Given the description of an element on the screen output the (x, y) to click on. 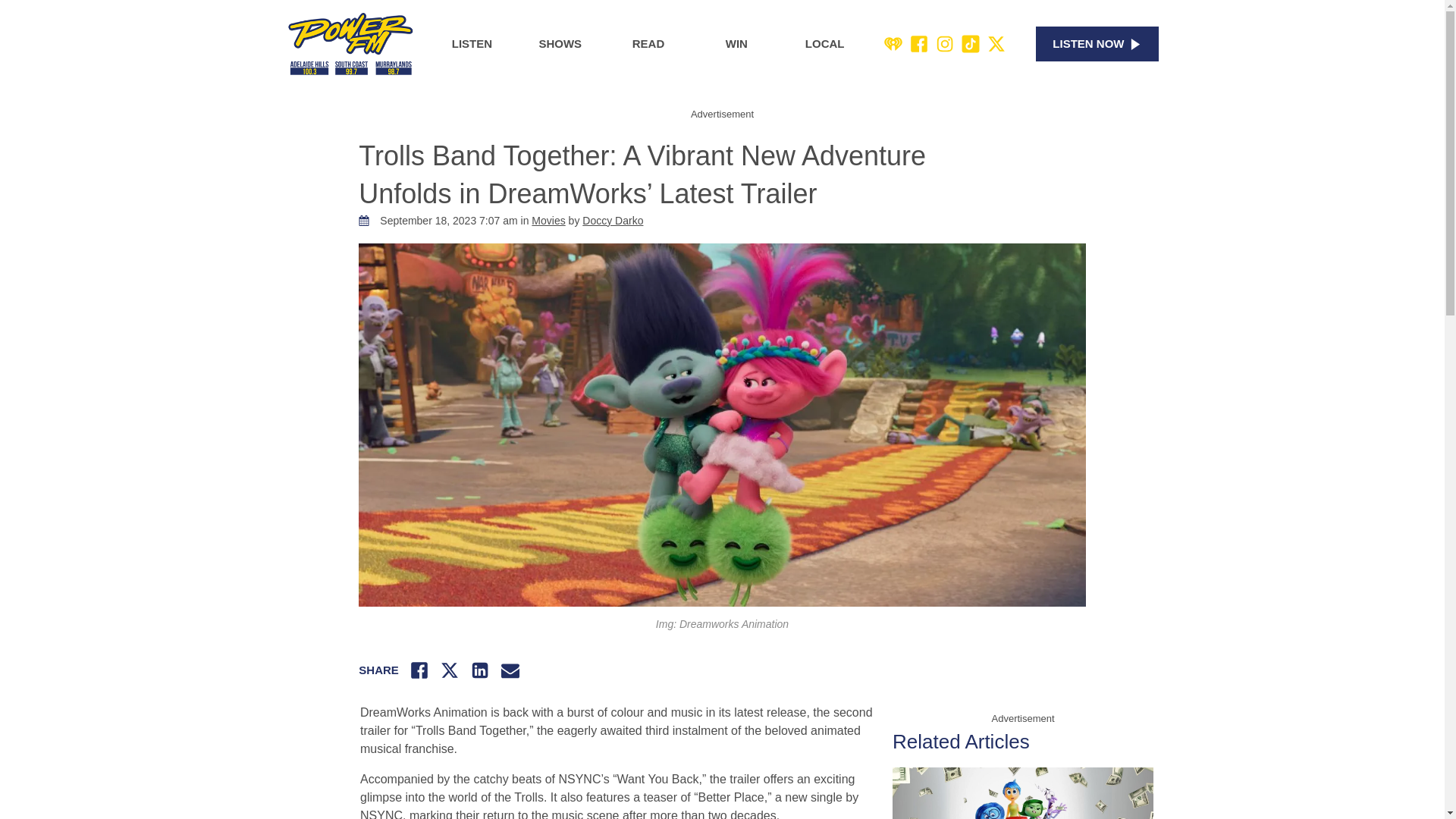
Facebook (919, 44)
LISTEN (471, 43)
SHOWS (560, 43)
WIN (736, 43)
Posts by Doccy Darko (612, 220)
Instagram (944, 44)
READ (648, 43)
Tiktok (969, 44)
iHeart (892, 44)
LOCAL (824, 43)
LISTEN NOW (1096, 44)
